Given the description of an element on the screen output the (x, y) to click on. 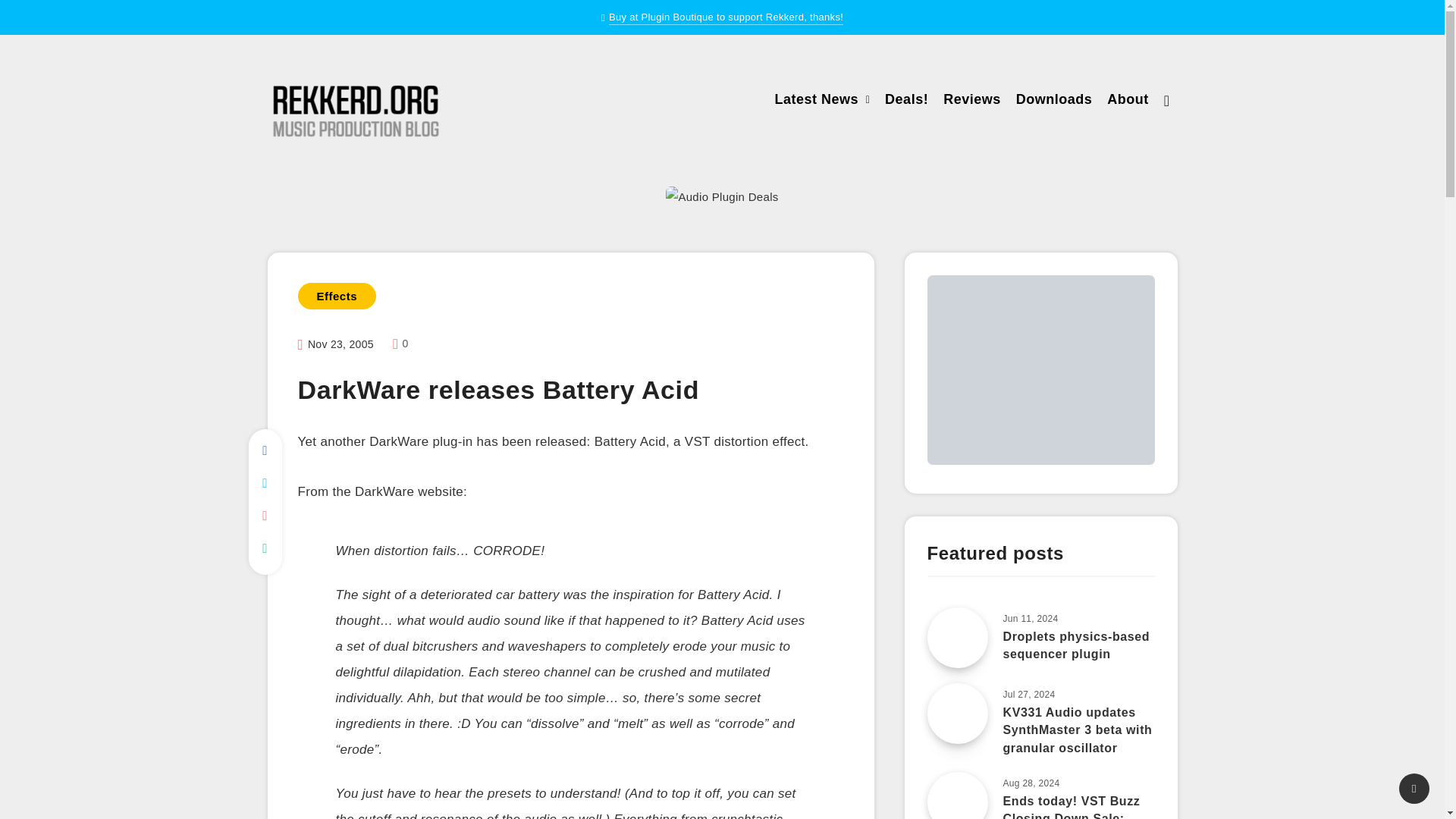
Effects (336, 295)
Go to comments (400, 343)
Deals! (906, 101)
About (1127, 101)
0 (400, 343)
Buy at Plugin Boutique to support Rekkerd, thanks! (725, 17)
Reviews (972, 101)
Latest News (816, 101)
Downloads (1054, 101)
